Given the description of an element on the screen output the (x, y) to click on. 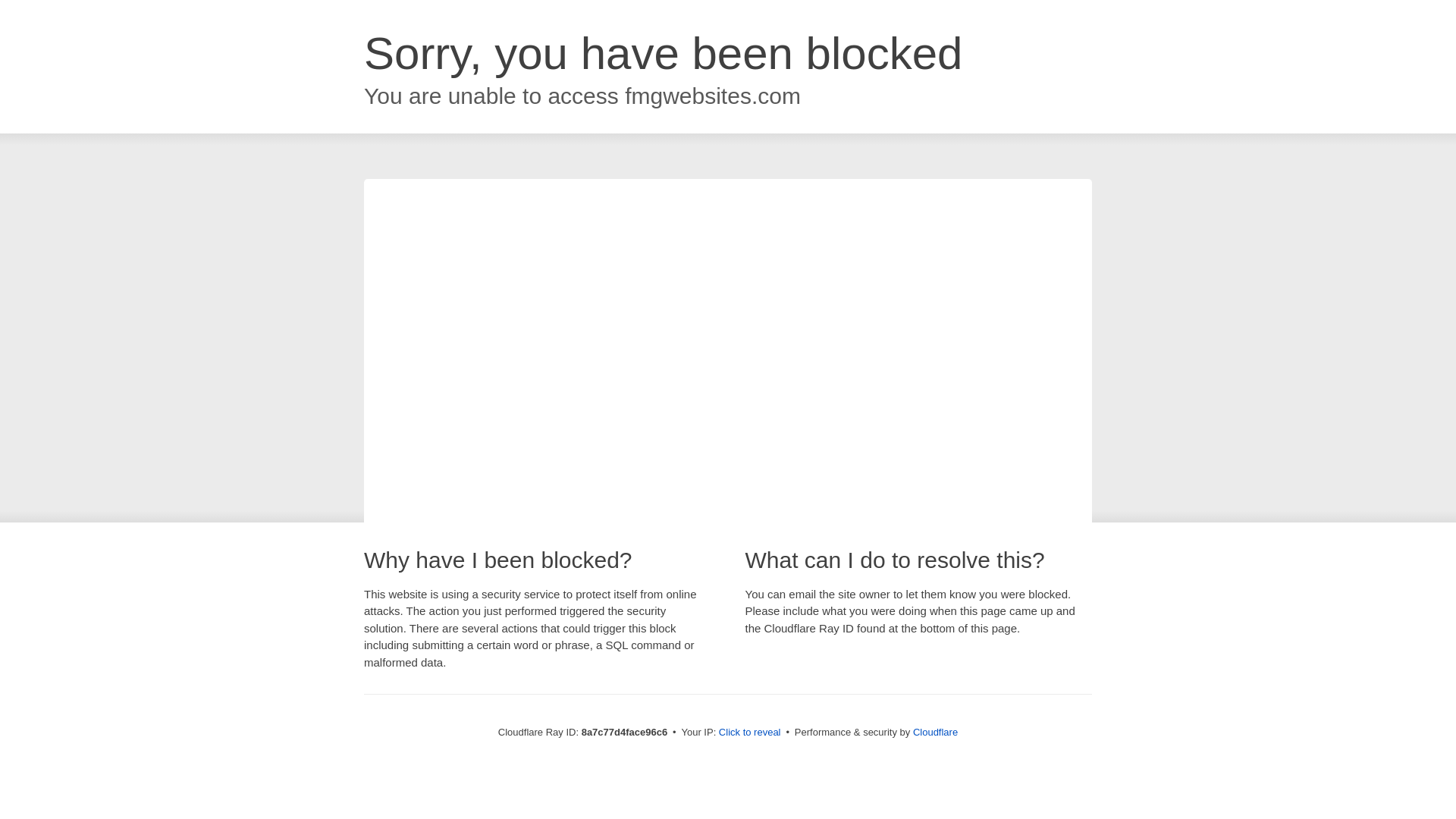
Click to reveal (749, 732)
Cloudflare (935, 731)
